Given the description of an element on the screen output the (x, y) to click on. 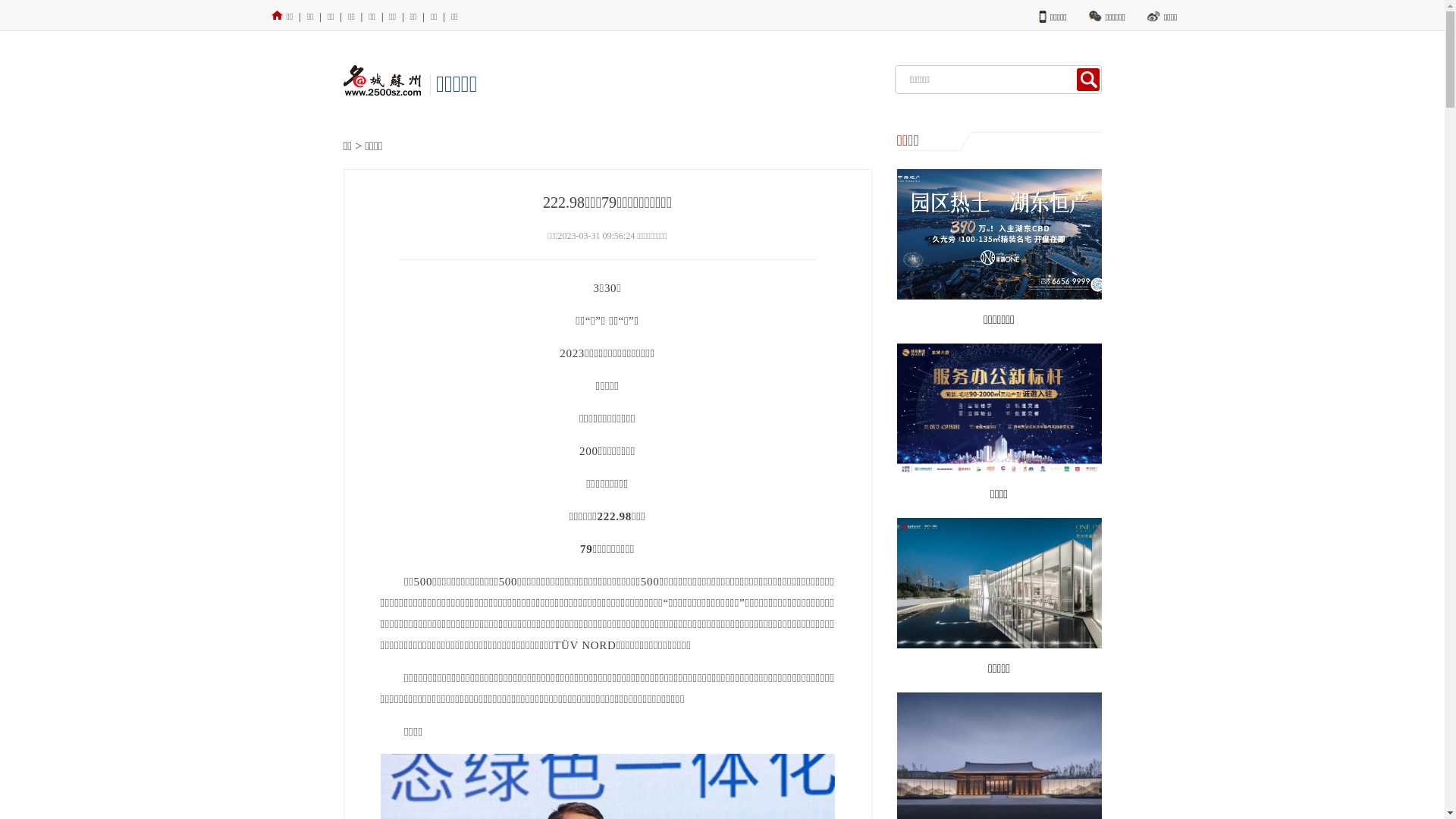
  Element type: text (1087, 79)
